Given the description of an element on the screen output the (x, y) to click on. 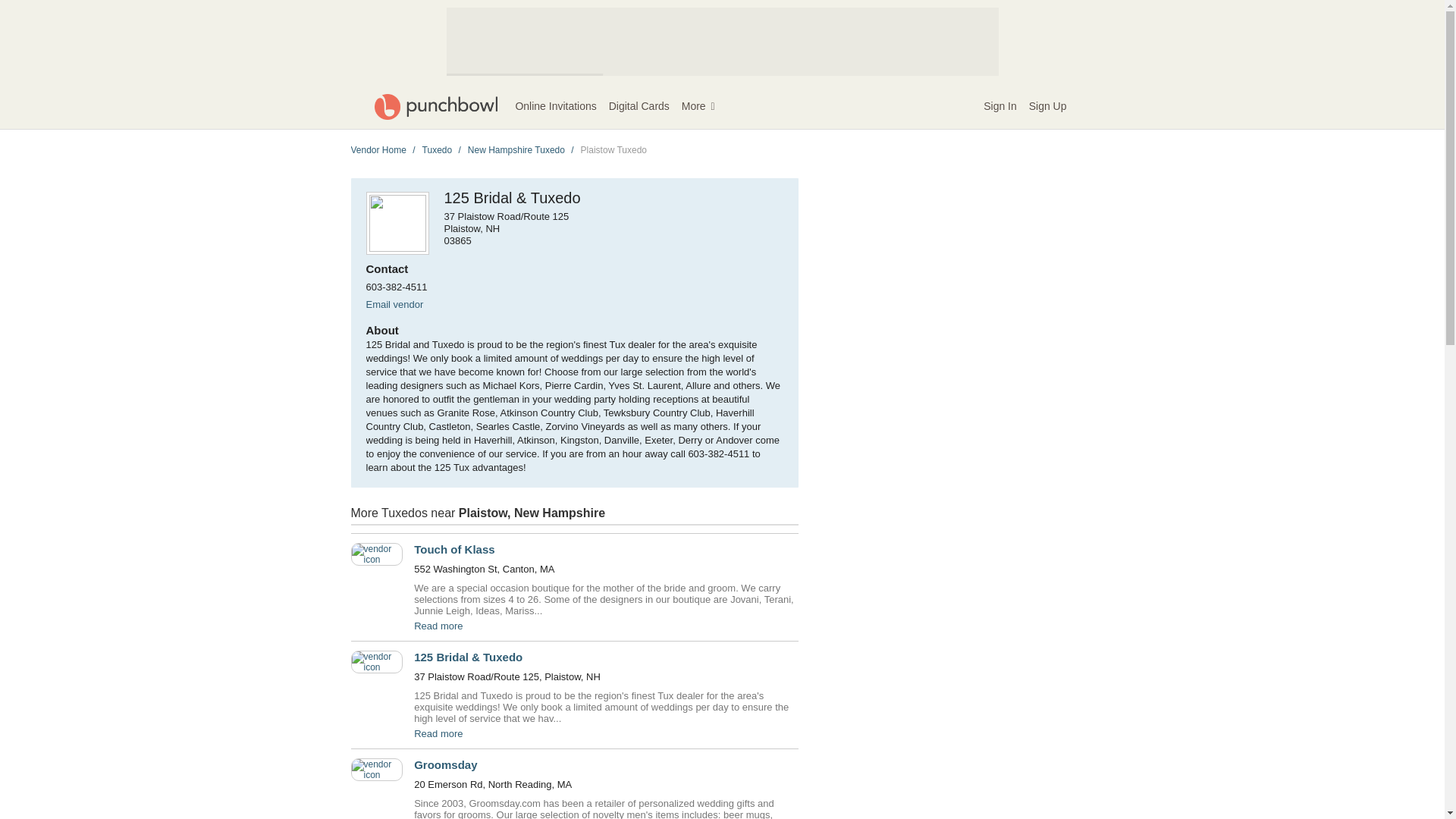
Tuxedo (437, 149)
Sign into Punchbowl (1000, 105)
Vendor Home (378, 149)
New Hampshire Tuxedo (515, 149)
Online invitations (555, 105)
Sign Up (1048, 105)
Free eCards (639, 105)
Sign In (1000, 105)
Join Punchbowl (1048, 105)
Online Invitations (555, 105)
